Given the description of an element on the screen output the (x, y) to click on. 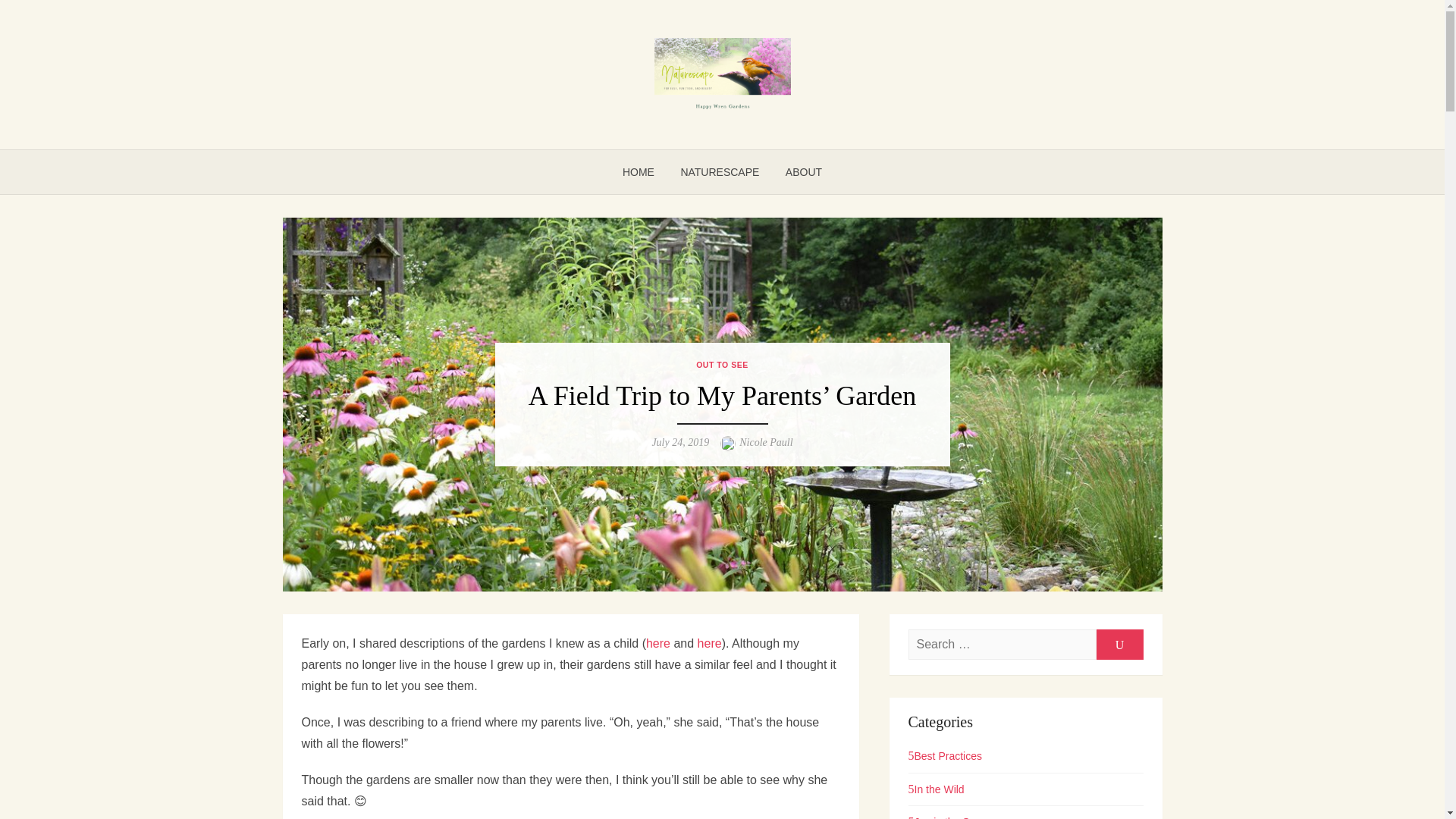
Joy in the Seasons (956, 817)
July 24, 2019 (679, 441)
SEARCH (1119, 644)
In the Wild (935, 788)
HOME (638, 171)
ABOUT (803, 171)
here (709, 643)
NATURESCAPE (719, 171)
Best Practices (944, 756)
here (657, 643)
